Given the description of an element on the screen output the (x, y) to click on. 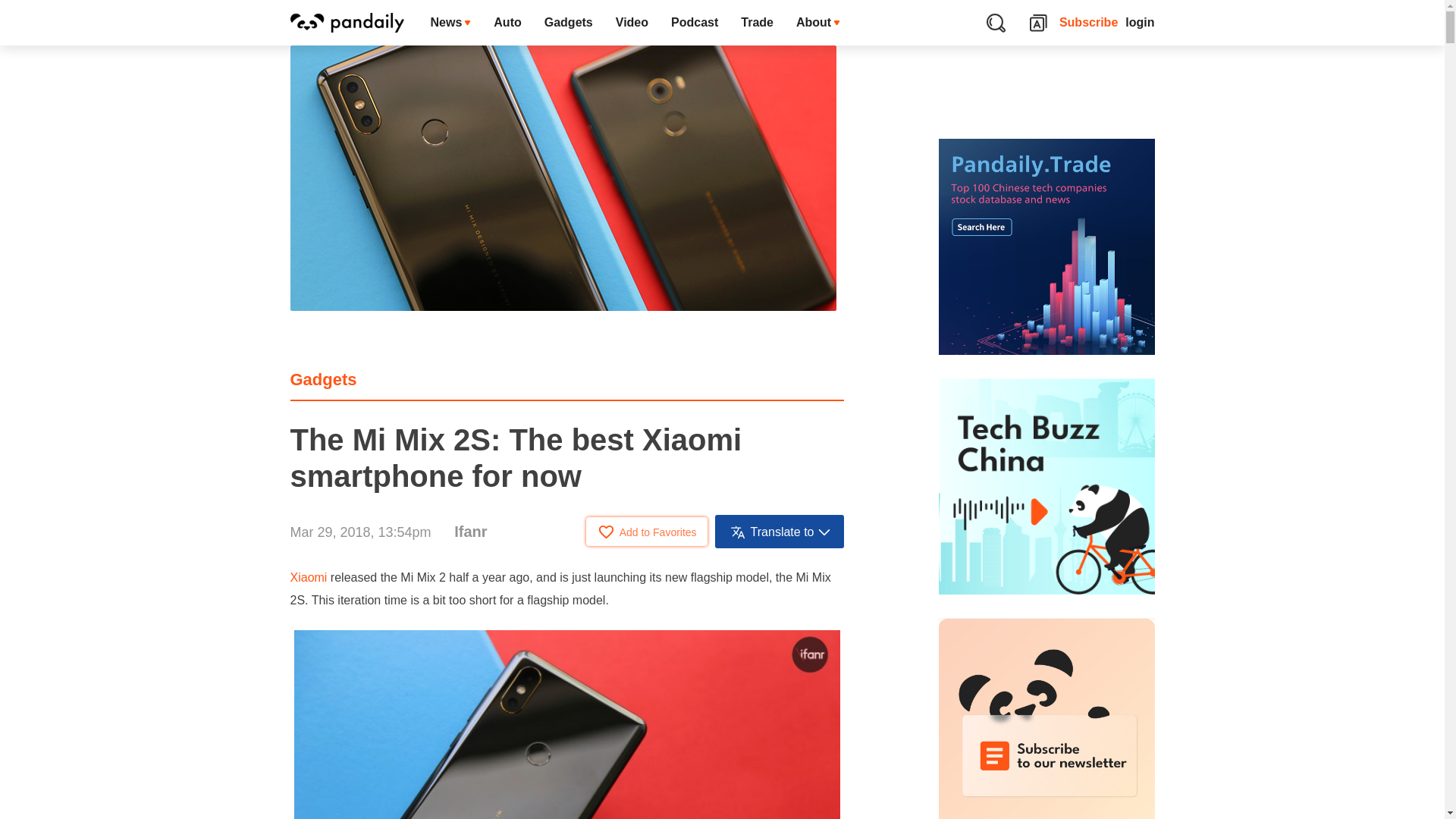
Auto (506, 22)
Translate to (779, 531)
Mar 29, 2018, 13:54pm (359, 531)
Video (631, 22)
Gadgets (322, 379)
login (1139, 22)
About (817, 22)
Trade (756, 22)
Subscribe (1088, 22)
Xiaomi (307, 576)
Gadgets (568, 22)
Add to Favorites (646, 531)
Ifanr (470, 531)
News (450, 22)
Podcast (694, 22)
